Given the description of an element on the screen output the (x, y) to click on. 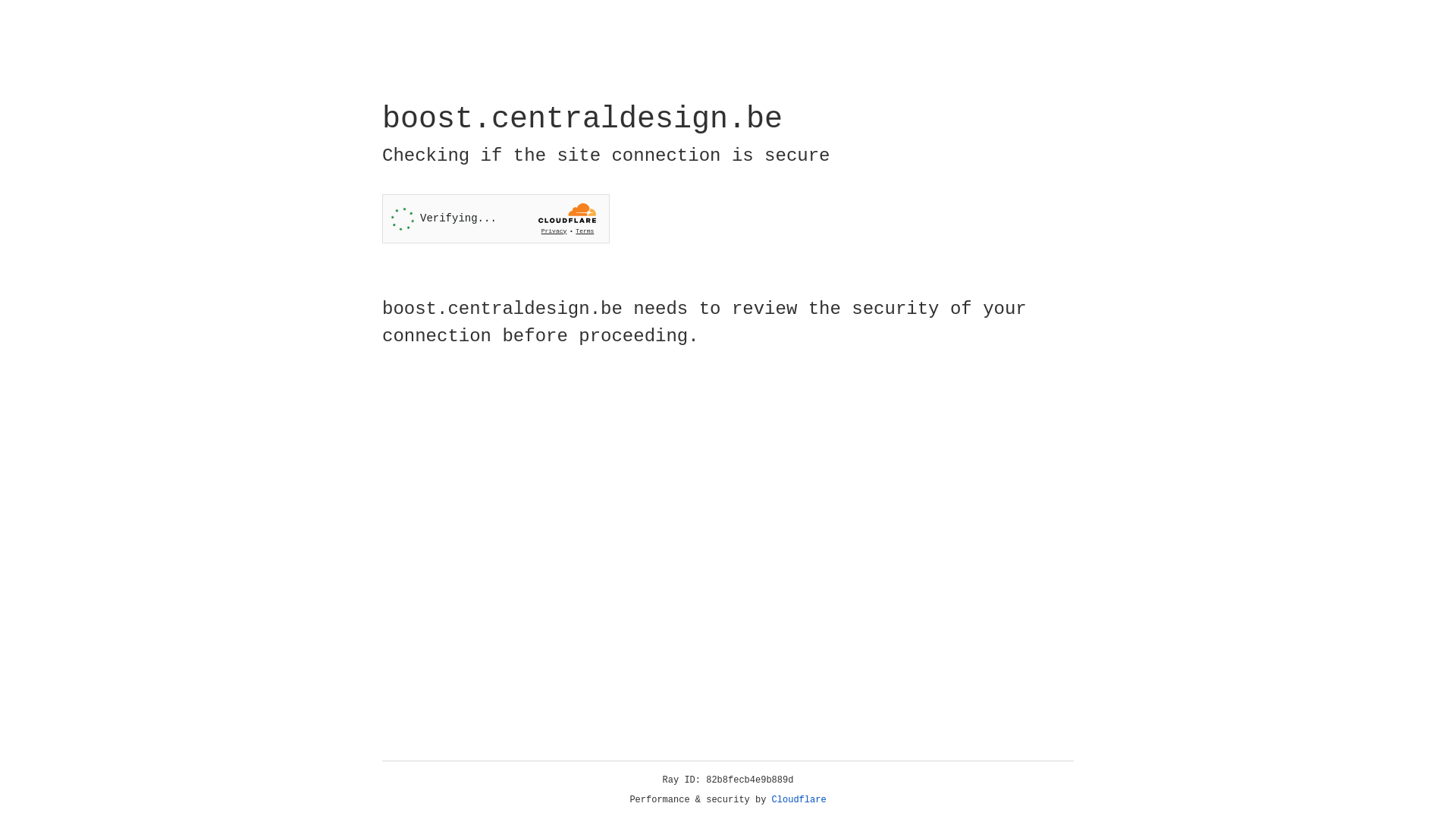
Widget containing a Cloudflare security challenge Element type: hover (495, 218)
Cloudflare Element type: text (798, 799)
